Given the description of an element on the screen output the (x, y) to click on. 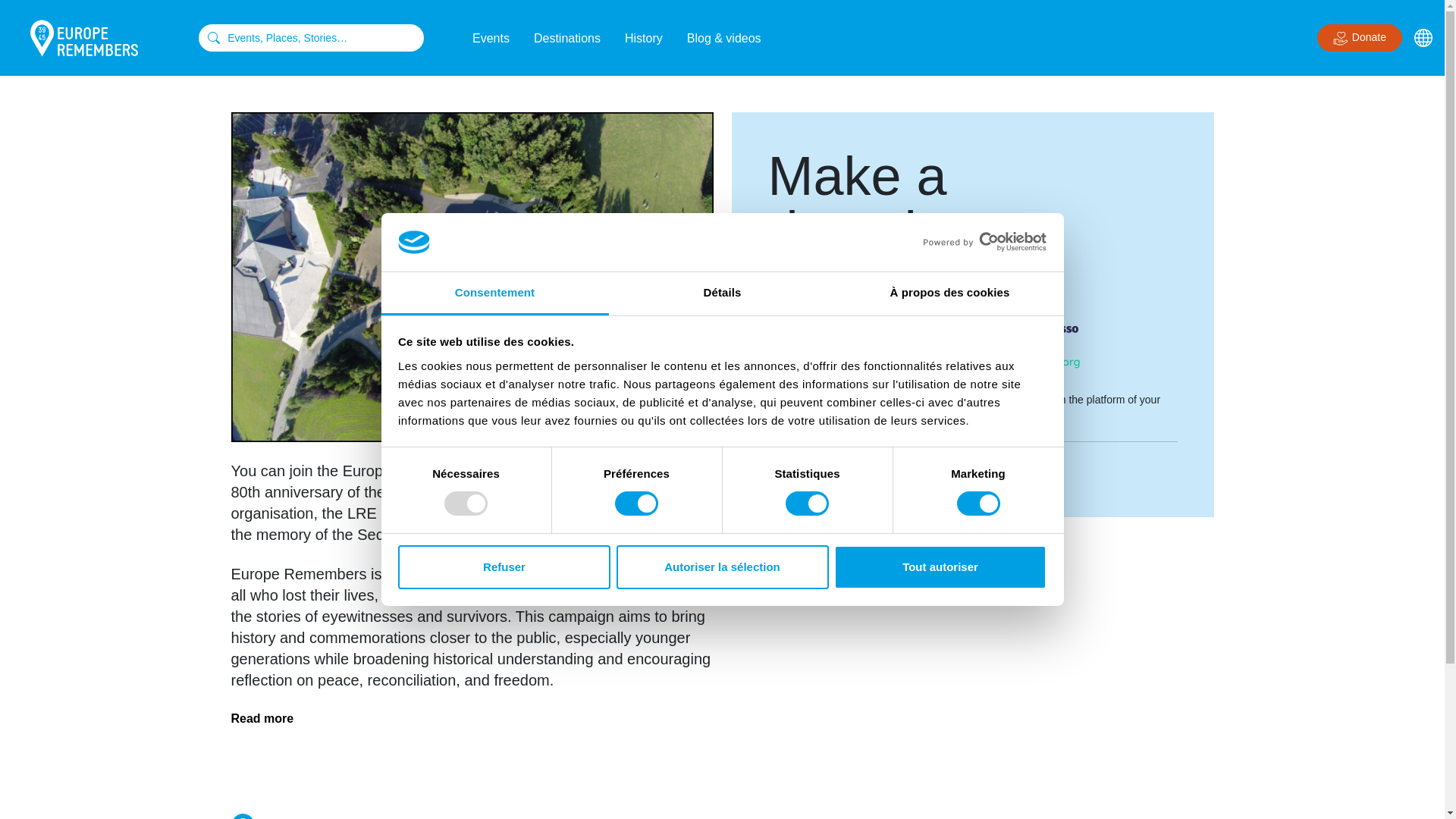
Refuser (503, 566)
Consentement (494, 293)
